Given the description of an element on the screen output the (x, y) to click on. 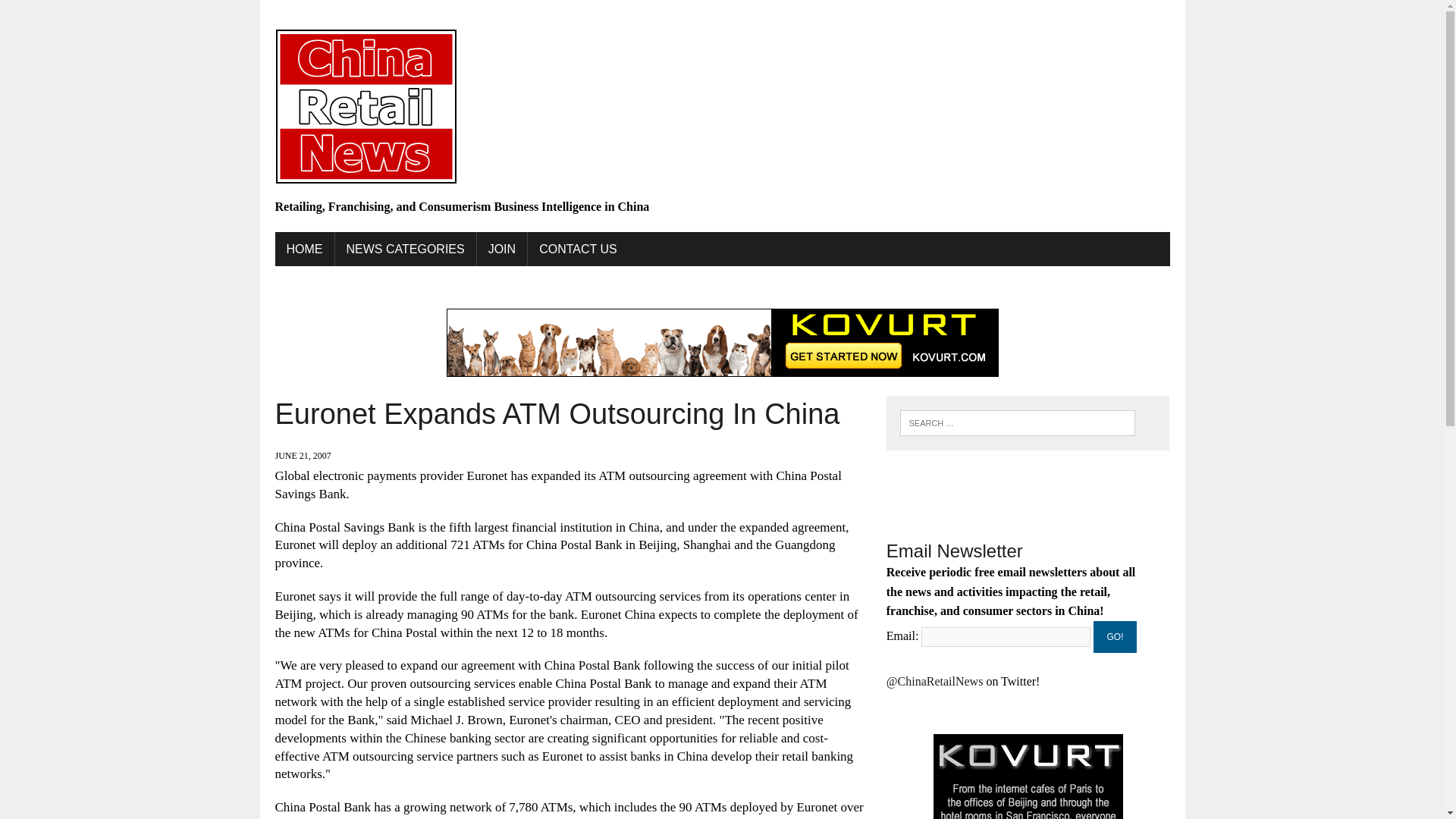
 GO!  (1115, 636)
 GO!  (1115, 636)
CONTACT US (577, 248)
Search (75, 14)
Contact Us (577, 248)
HOME (304, 248)
JOIN (502, 248)
NEWS CATEGORIES (405, 248)
Join (502, 248)
